Given the description of an element on the screen output the (x, y) to click on. 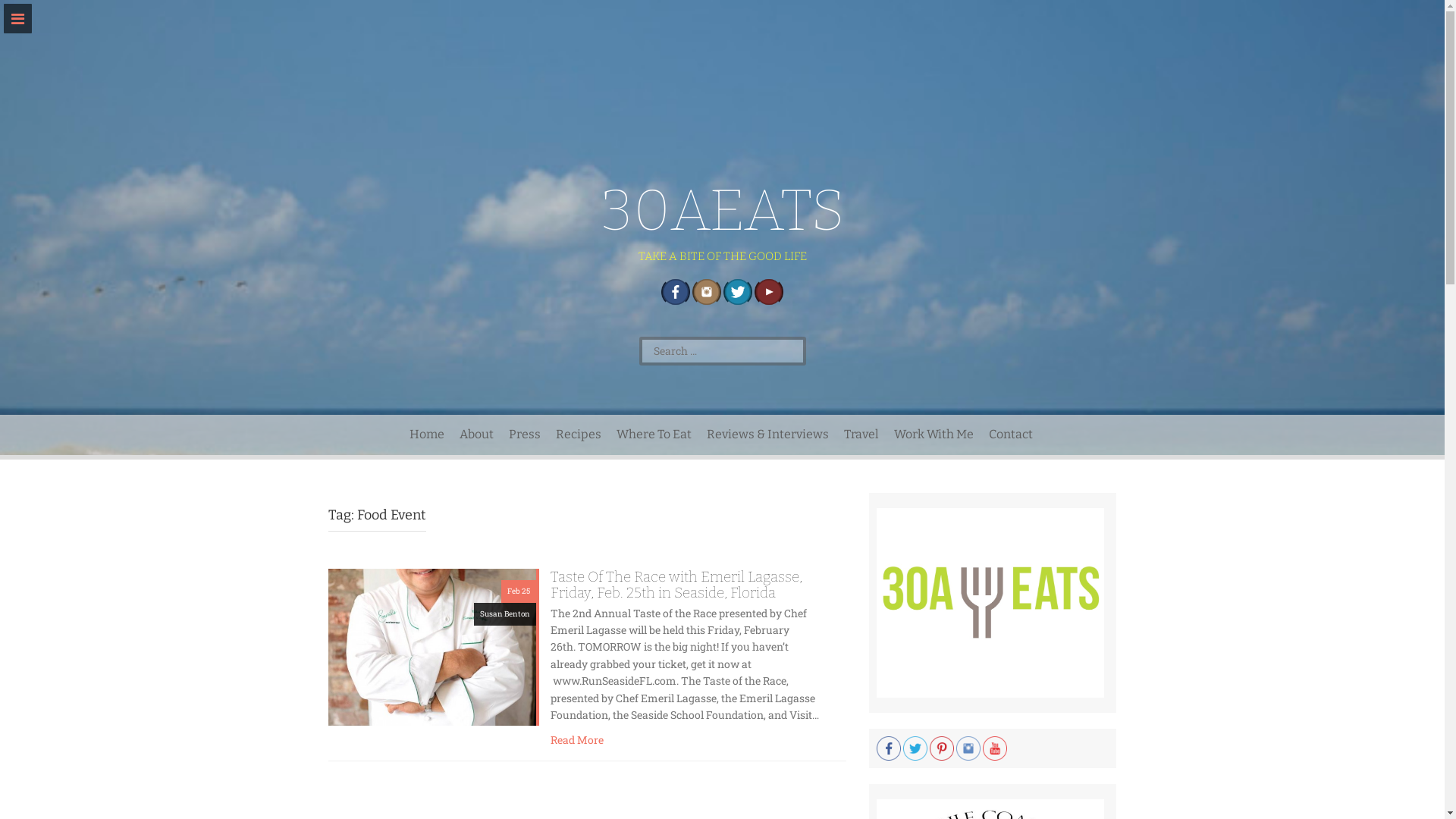
Travel Element type: text (861, 434)
Press Element type: text (524, 434)
Recipes Element type: text (578, 434)
Home Element type: text (426, 434)
Susan Benton Element type: text (505, 613)
Search Element type: text (24, 9)
Read More Element type: text (576, 739)
Where To Eat Element type: text (653, 434)
Reviews & Interviews Element type: text (767, 434)
Contact Element type: text (1010, 434)
Work With Me Element type: text (933, 434)
About Element type: text (476, 434)
30AEATS Element type: text (722, 209)
